Given the description of an element on the screen output the (x, y) to click on. 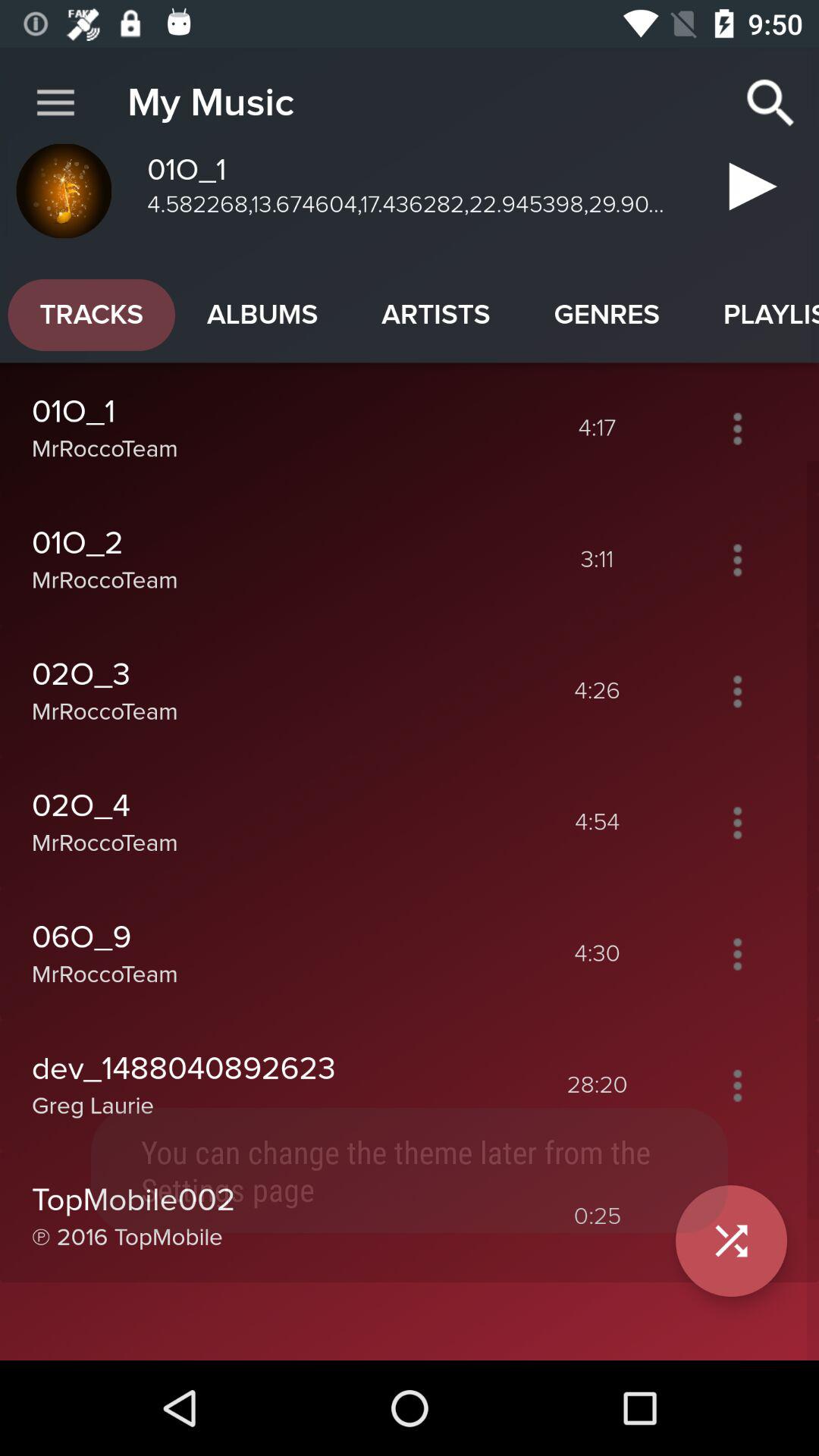
tap app to the right of the tracks icon (262, 314)
